Given the description of an element on the screen output the (x, y) to click on. 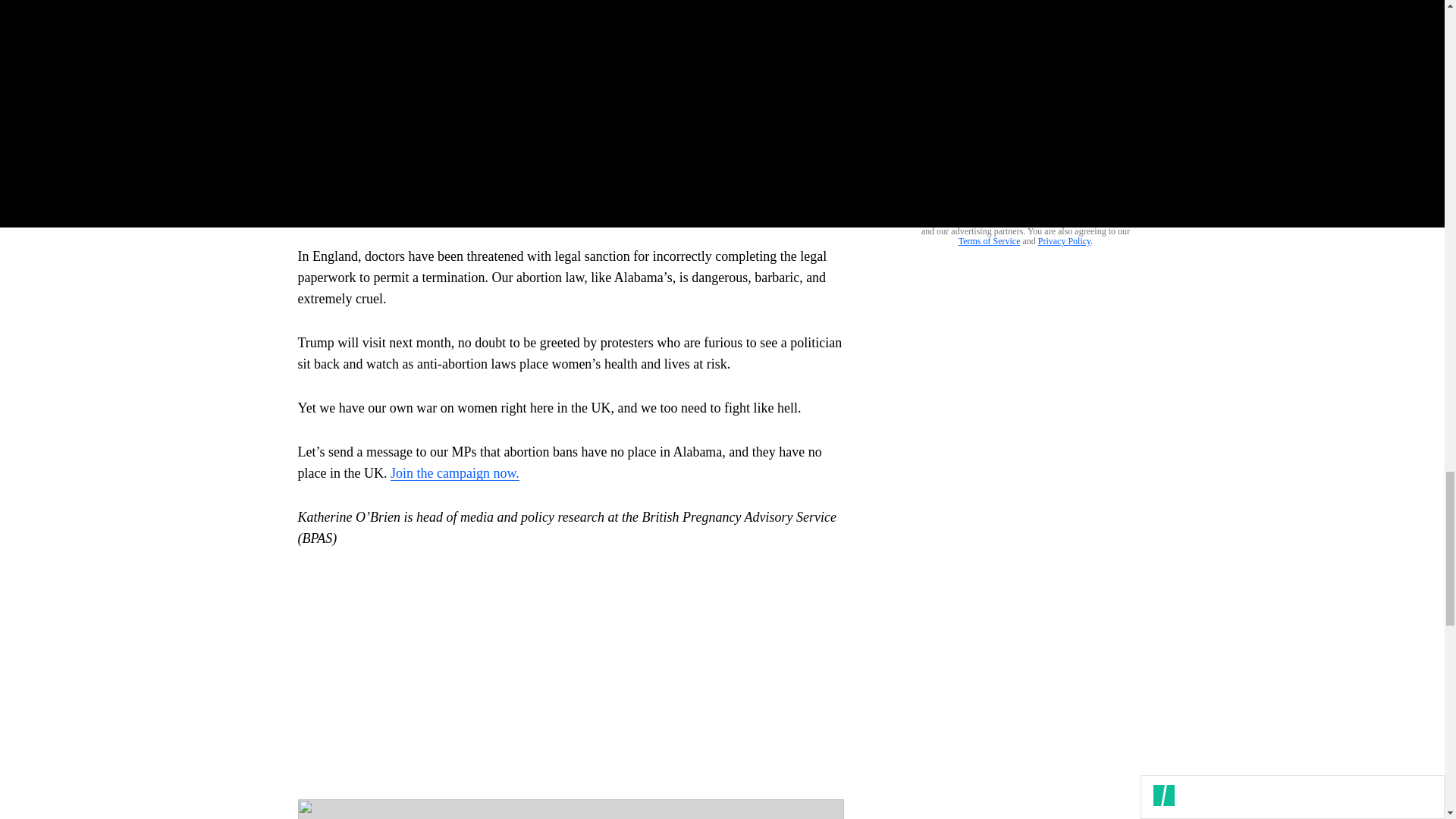
SIGN UP (1098, 180)
